Given the description of an element on the screen output the (x, y) to click on. 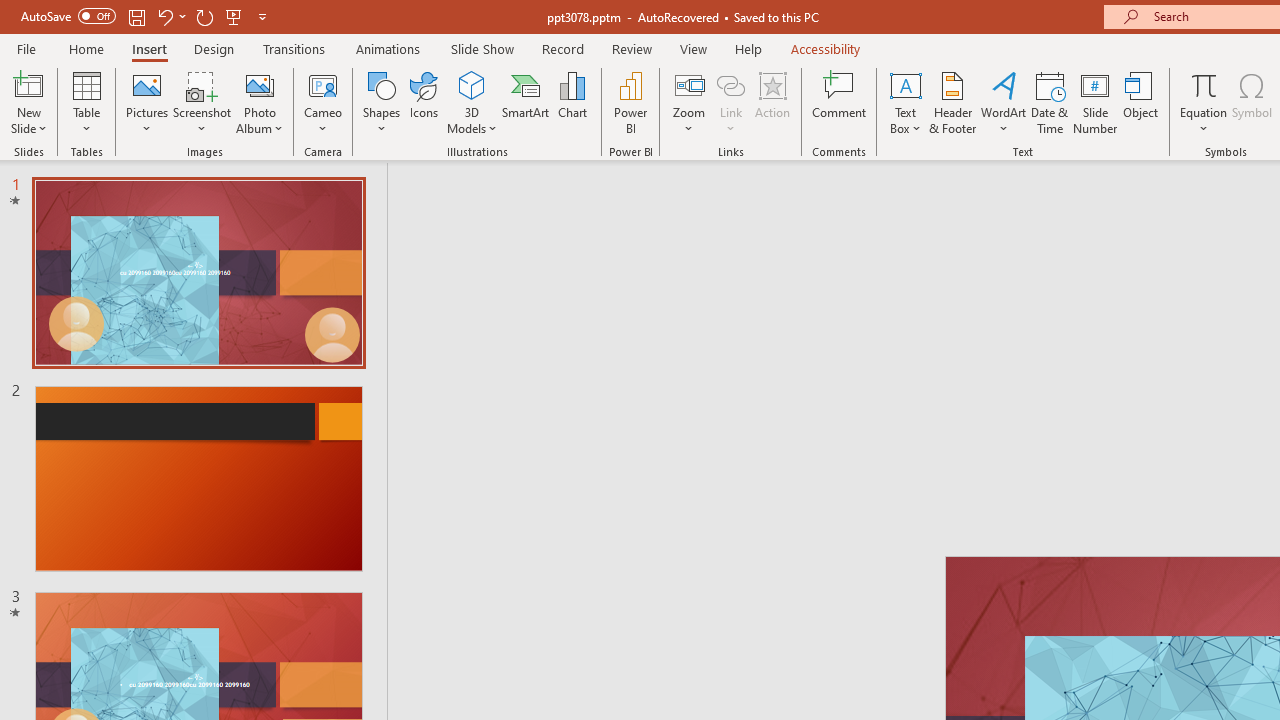
Photo Album... (259, 102)
3D Models (472, 84)
Screenshot (202, 102)
Header & Footer... (952, 102)
